Given the description of an element on the screen output the (x, y) to click on. 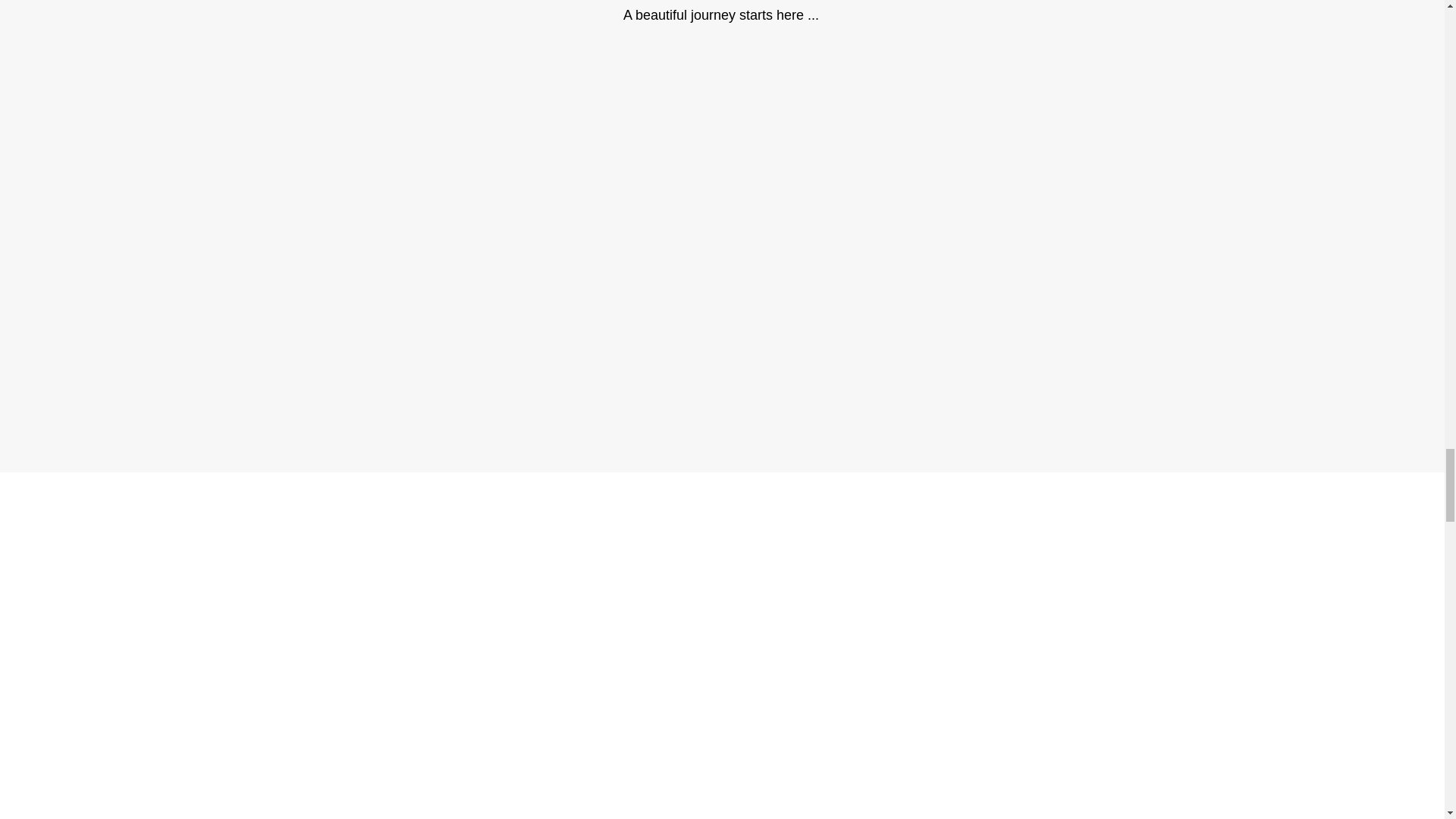
External YouTube (721, 219)
